Given the description of an element on the screen output the (x, y) to click on. 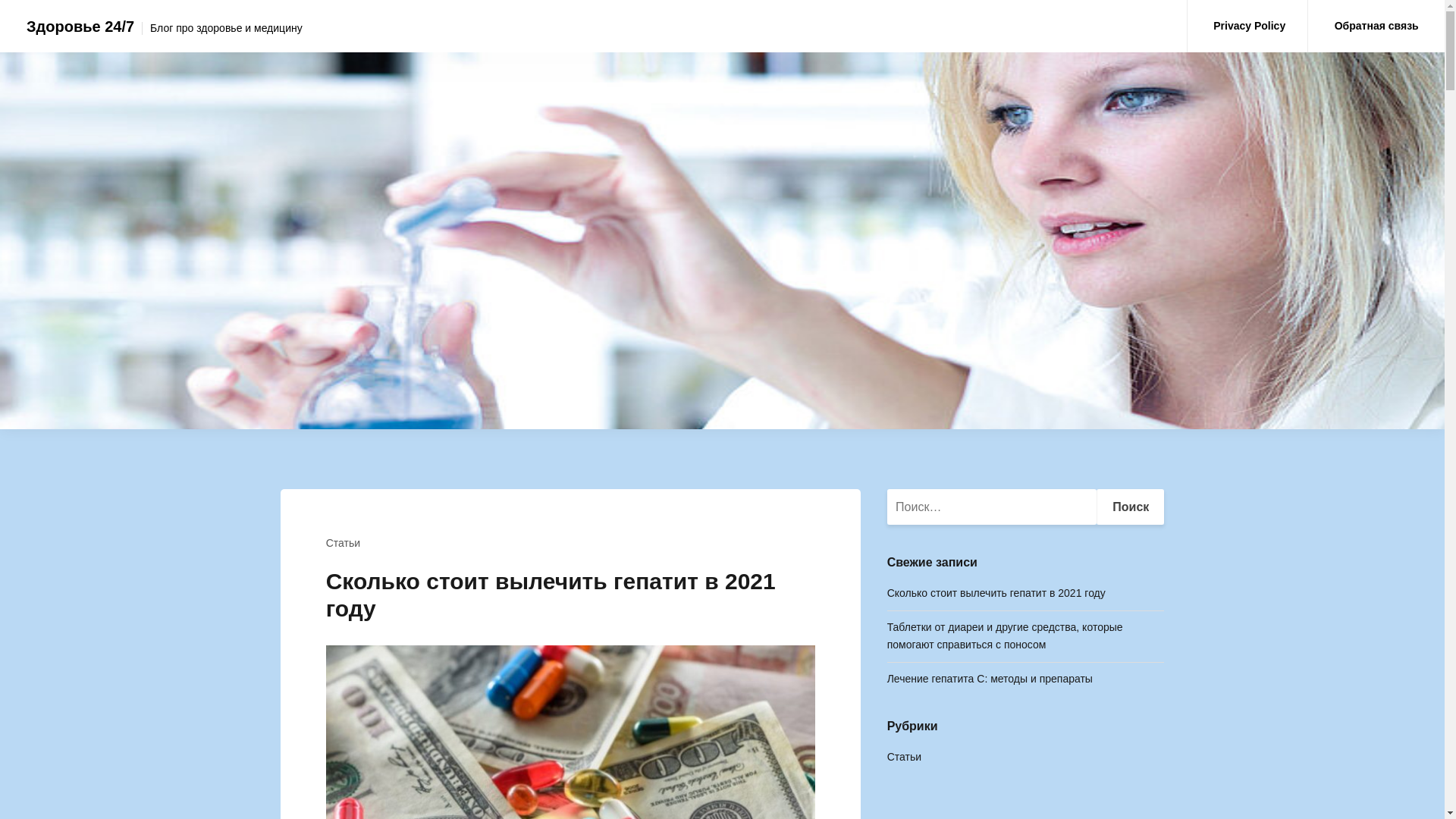
Skip to content Element type: text (0, 0)
Privacy Policy Element type: text (1249, 26)
